Given the description of an element on the screen output the (x, y) to click on. 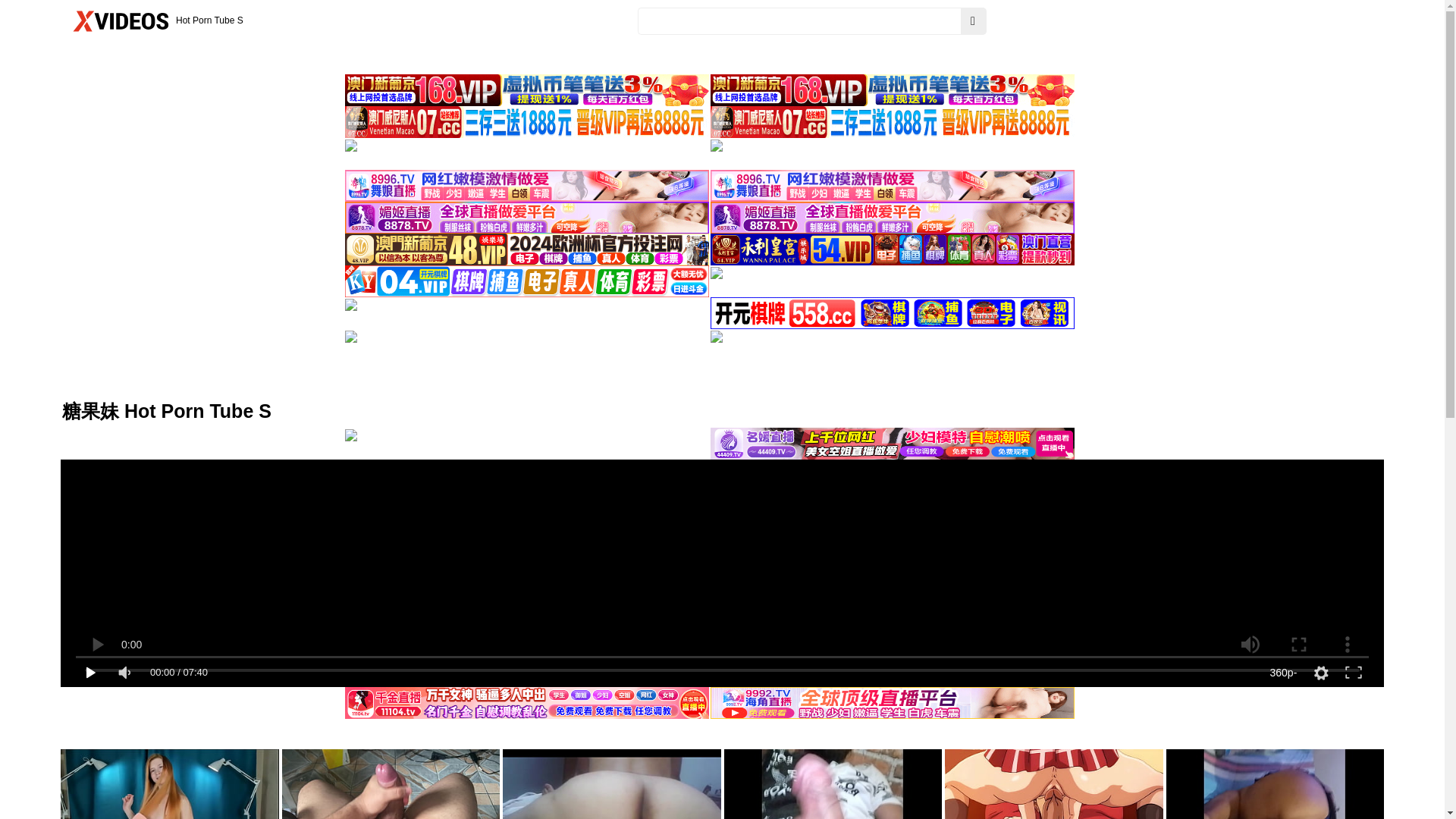
360p- (1283, 672)
Search (973, 21)
Hot Porn Tube S (154, 21)
